Given the description of an element on the screen output the (x, y) to click on. 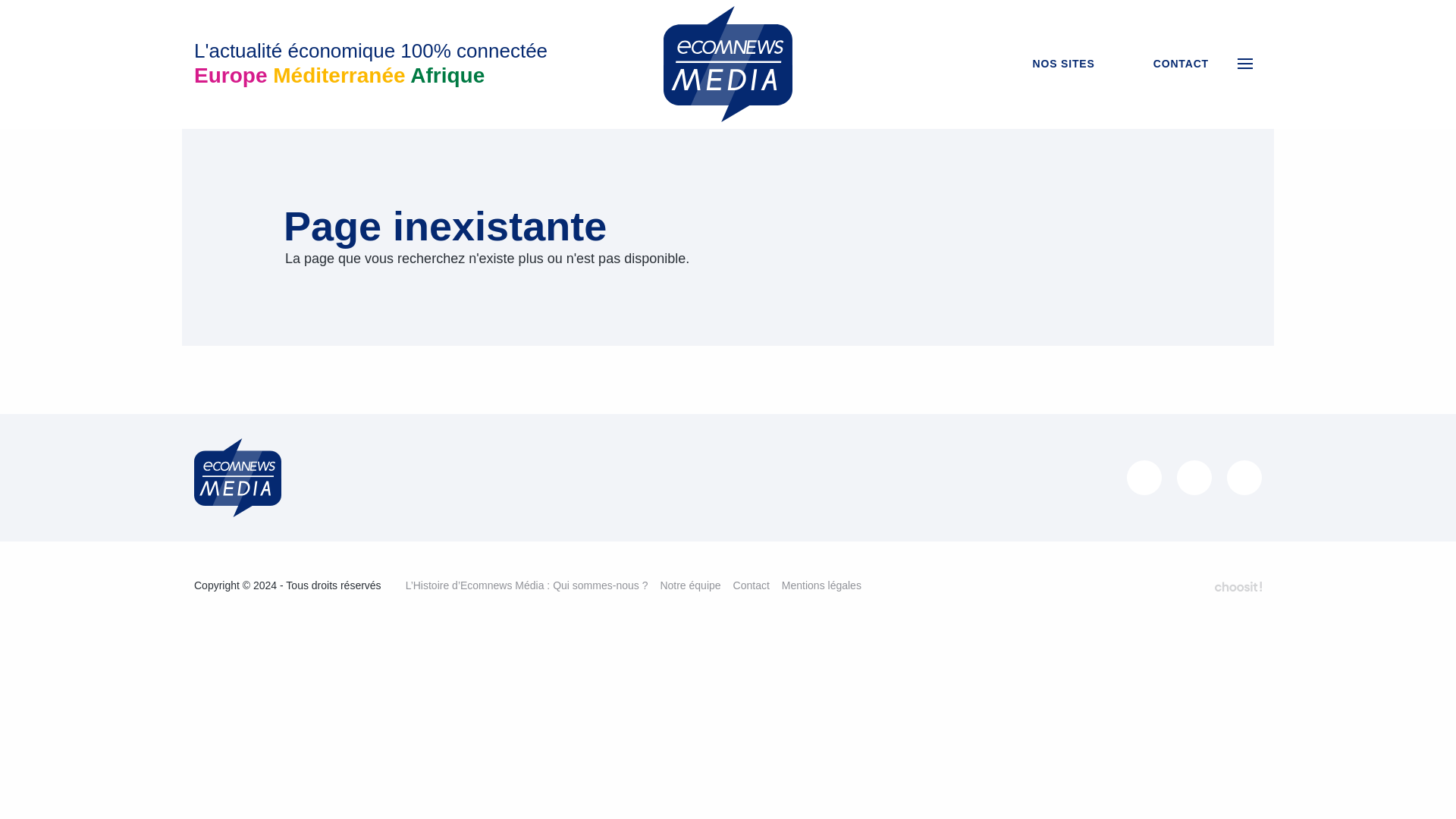
Contact (751, 584)
Menu (1245, 63)
CONTACT (1170, 63)
